Given the description of an element on the screen output the (x, y) to click on. 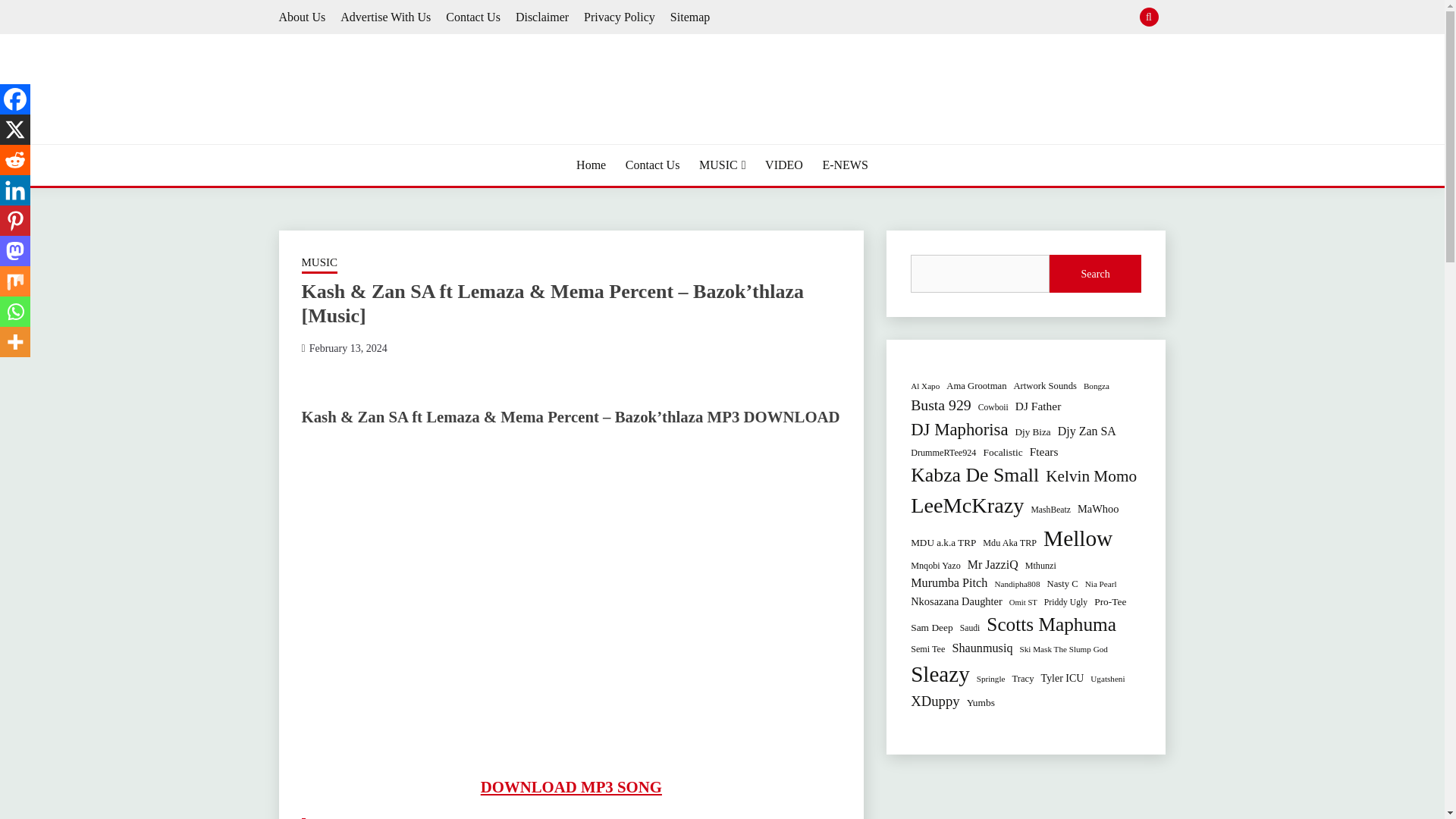
About Us (302, 16)
MUSIC (721, 165)
Disclaimer (542, 16)
E-NEWS (844, 165)
MUSIC (319, 263)
VIDEO (784, 165)
Home (590, 165)
Reddit (15, 159)
Facebook (15, 99)
Contact Us (652, 165)
